Given the description of an element on the screen output the (x, y) to click on. 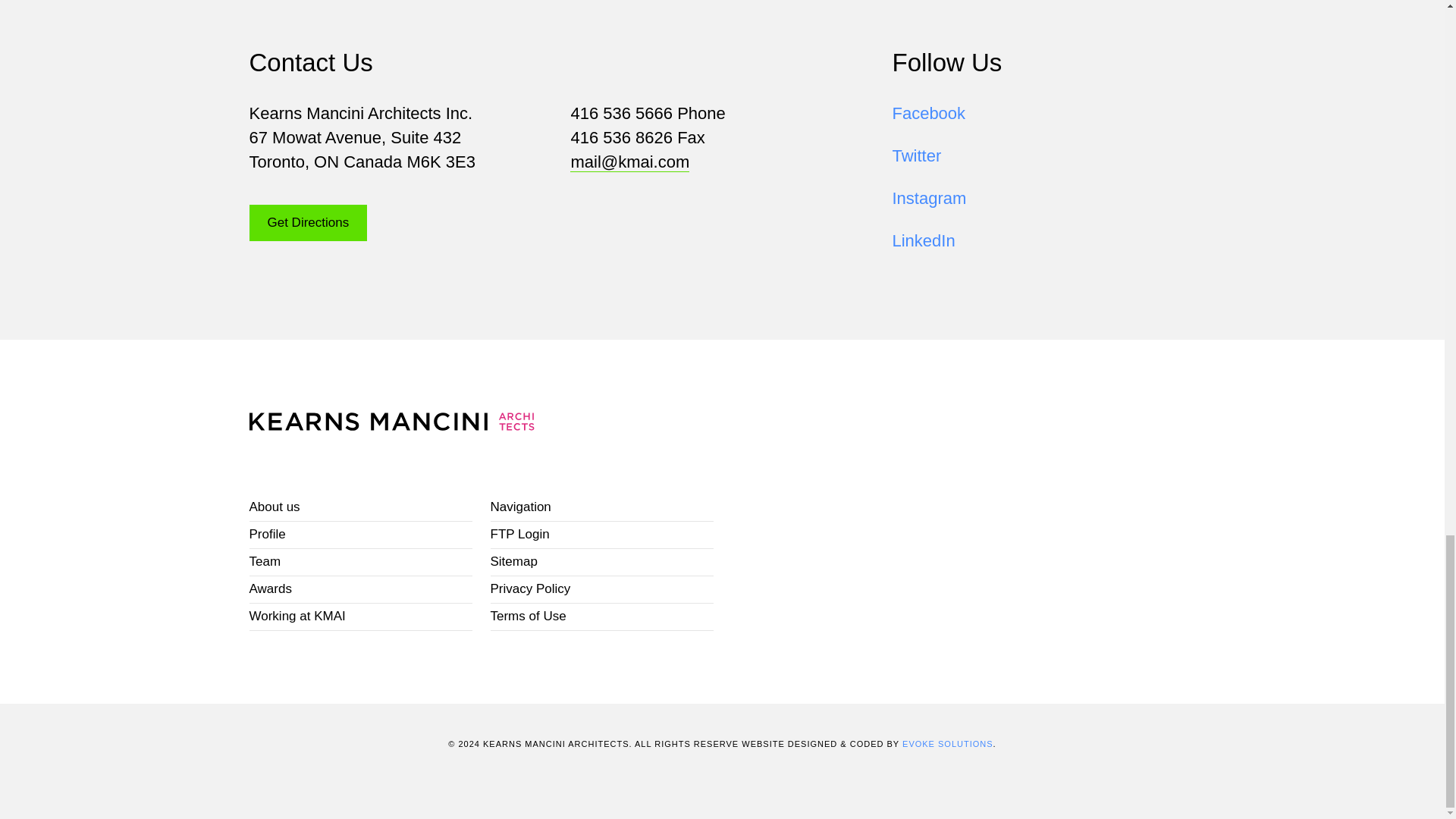
Profile (359, 534)
Team (359, 562)
Working at KMAI (359, 616)
Twitter (915, 155)
Instagram (928, 198)
Awards (359, 589)
About us (359, 507)
Get Directions (307, 222)
LinkedIn (923, 240)
Facebook (928, 113)
